Given the description of an element on the screen output the (x, y) to click on. 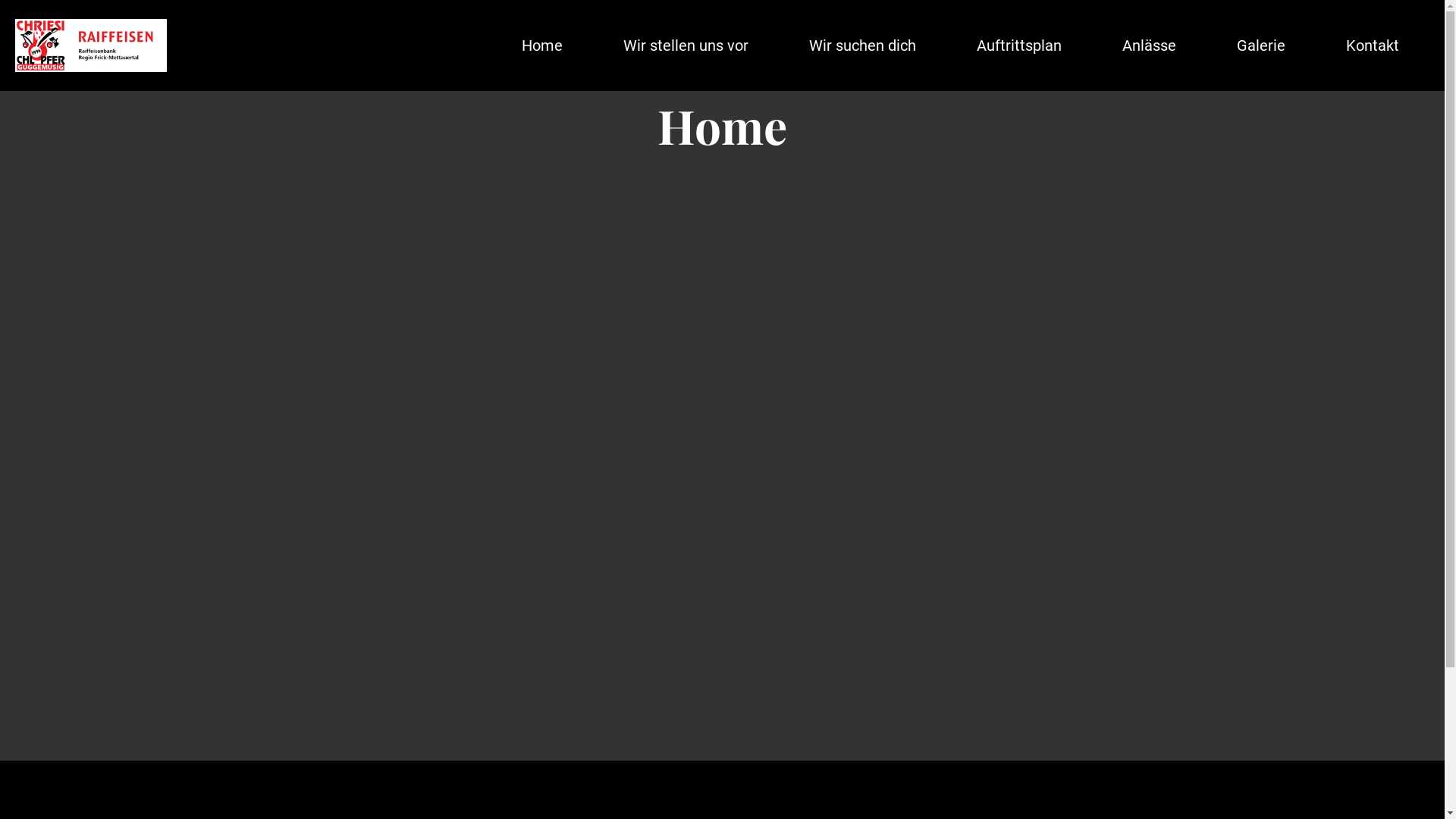
Auftrittsplan Element type: text (1019, 45)
Home Element type: text (542, 45)
Wir stellen uns vor Element type: text (685, 45)
Kontakt Element type: text (1372, 45)
Wir suchen dich Element type: text (862, 45)
Galerie Element type: text (1260, 45)
